Given the description of an element on the screen output the (x, y) to click on. 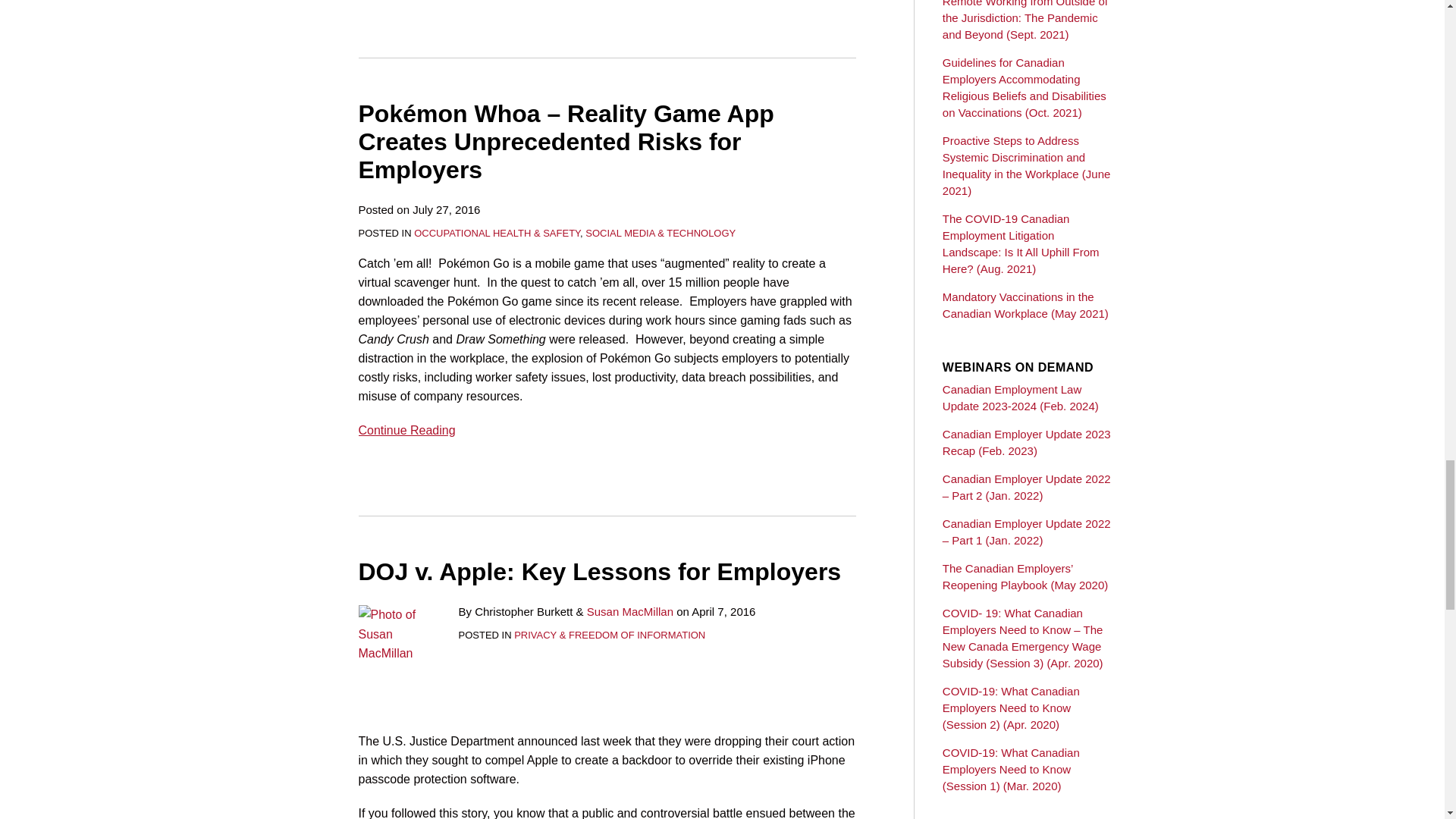
Susan MacMillan (629, 611)
DOJ v. Apple: Key Lessons for Employers (599, 571)
